Given the description of an element on the screen output the (x, y) to click on. 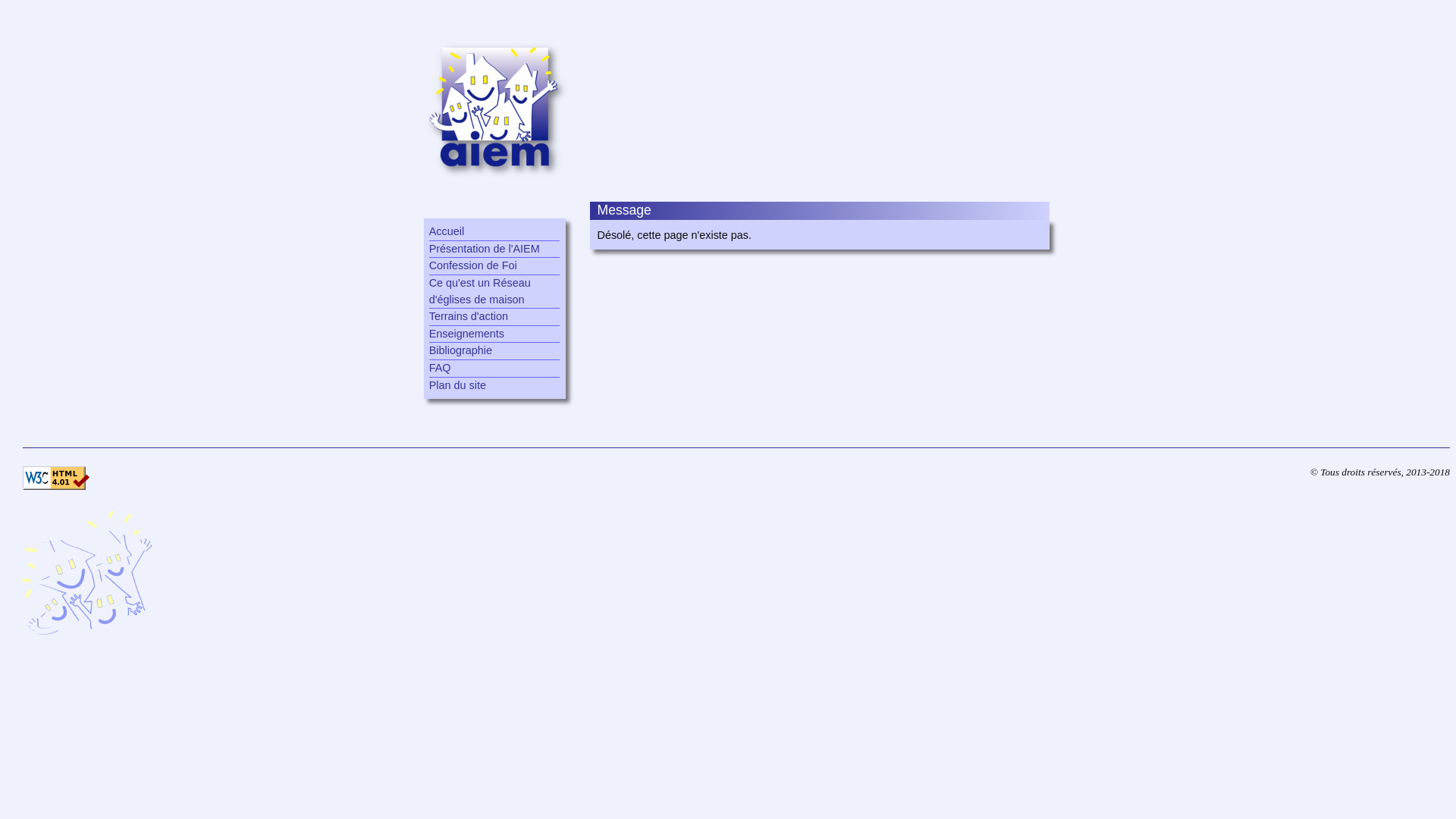
FAQ Element type: text (494, 368)
Bibliographie Element type: text (494, 350)
Terrains d'action Element type: text (494, 316)
Enseignements Element type: text (494, 334)
Confession de Foi Element type: text (494, 265)
Plan du site Element type: text (494, 385)
Accueil Element type: text (494, 231)
